Given the description of an element on the screen output the (x, y) to click on. 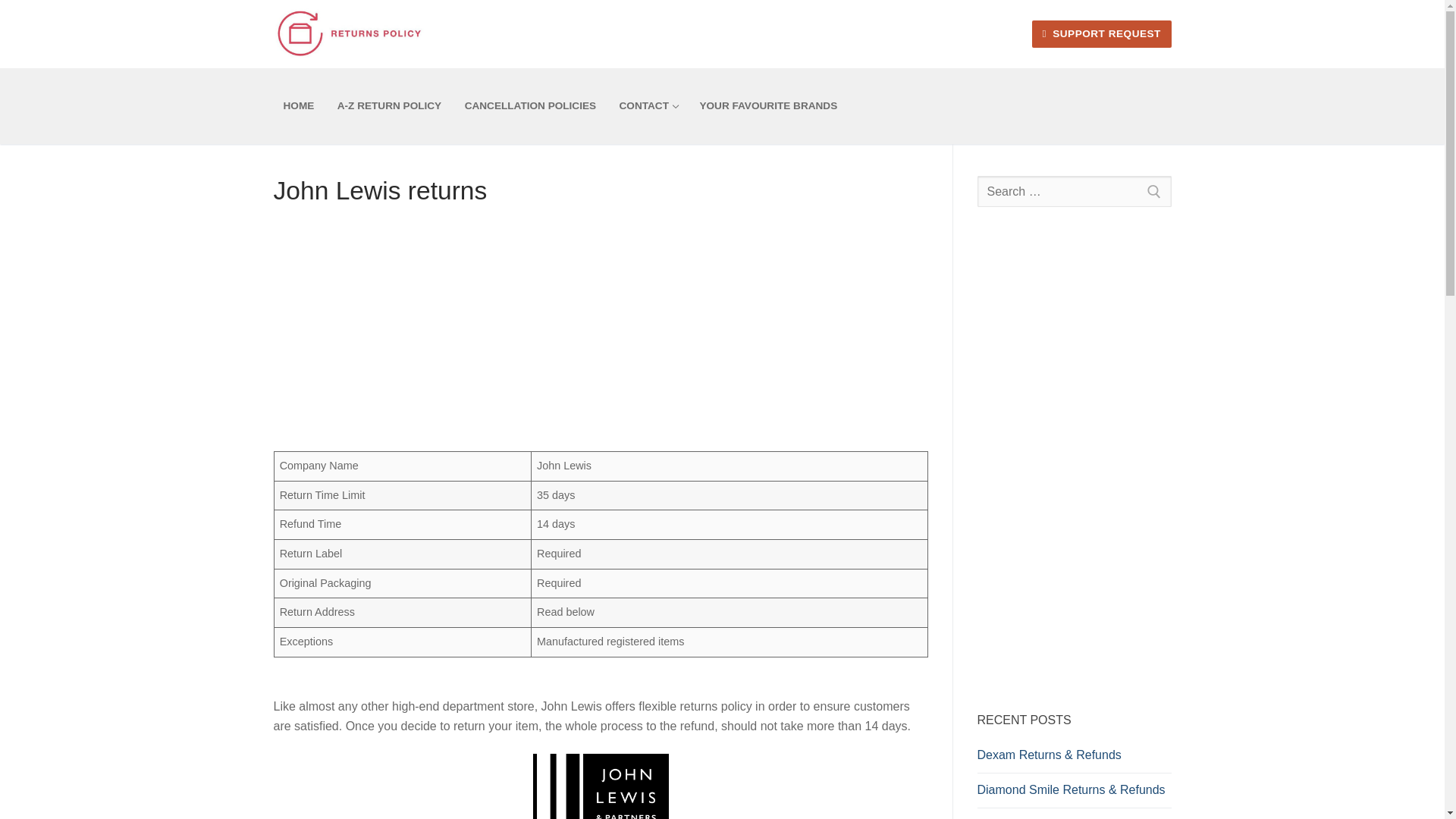
CANCELLATION POLICIES (529, 105)
SUPPORT REQUEST (1102, 34)
A-Z RETURN POLICY (389, 105)
Advertisement (1073, 458)
YOUR FAVOURITE BRANDS (767, 105)
Search for: (647, 105)
HOME (1073, 192)
Advertisement (298, 105)
